Given the description of an element on the screen output the (x, y) to click on. 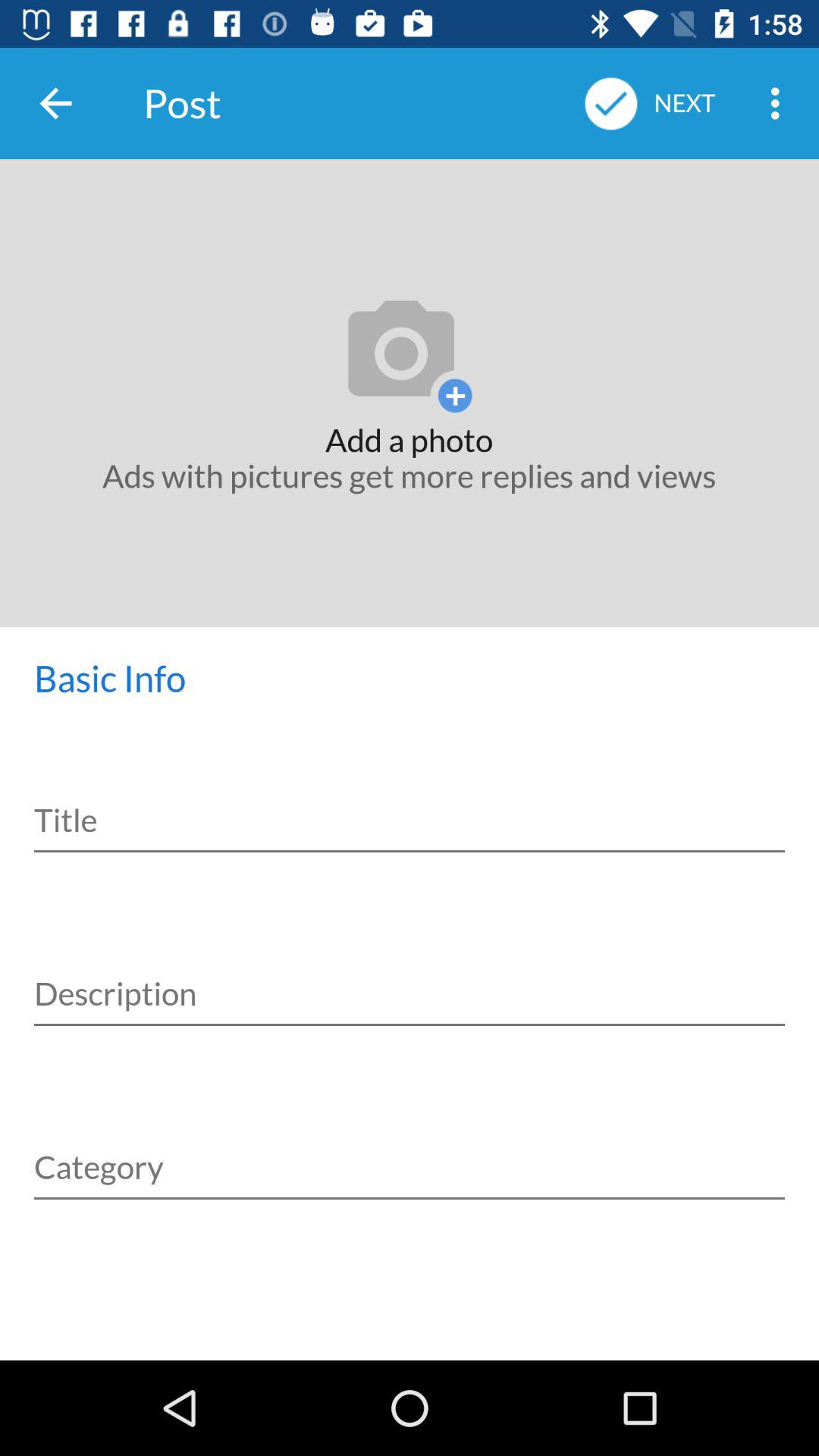
enter a description (409, 976)
